Given the description of an element on the screen output the (x, y) to click on. 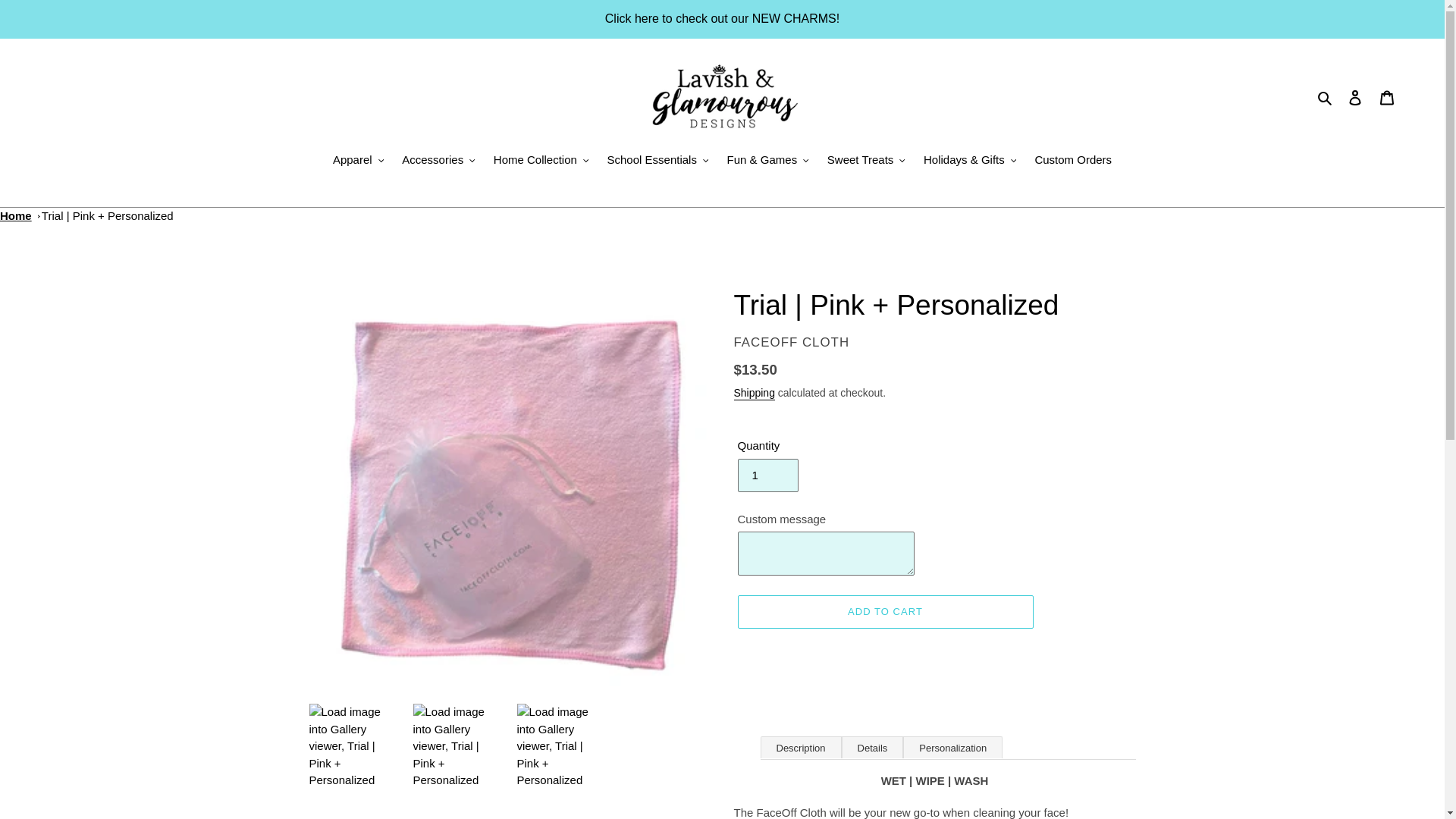
Search (1326, 97)
Log in (1355, 97)
Cart (1387, 97)
Click here to check out our NEW CHARMS! (721, 18)
1 (766, 475)
